Given the description of an element on the screen output the (x, y) to click on. 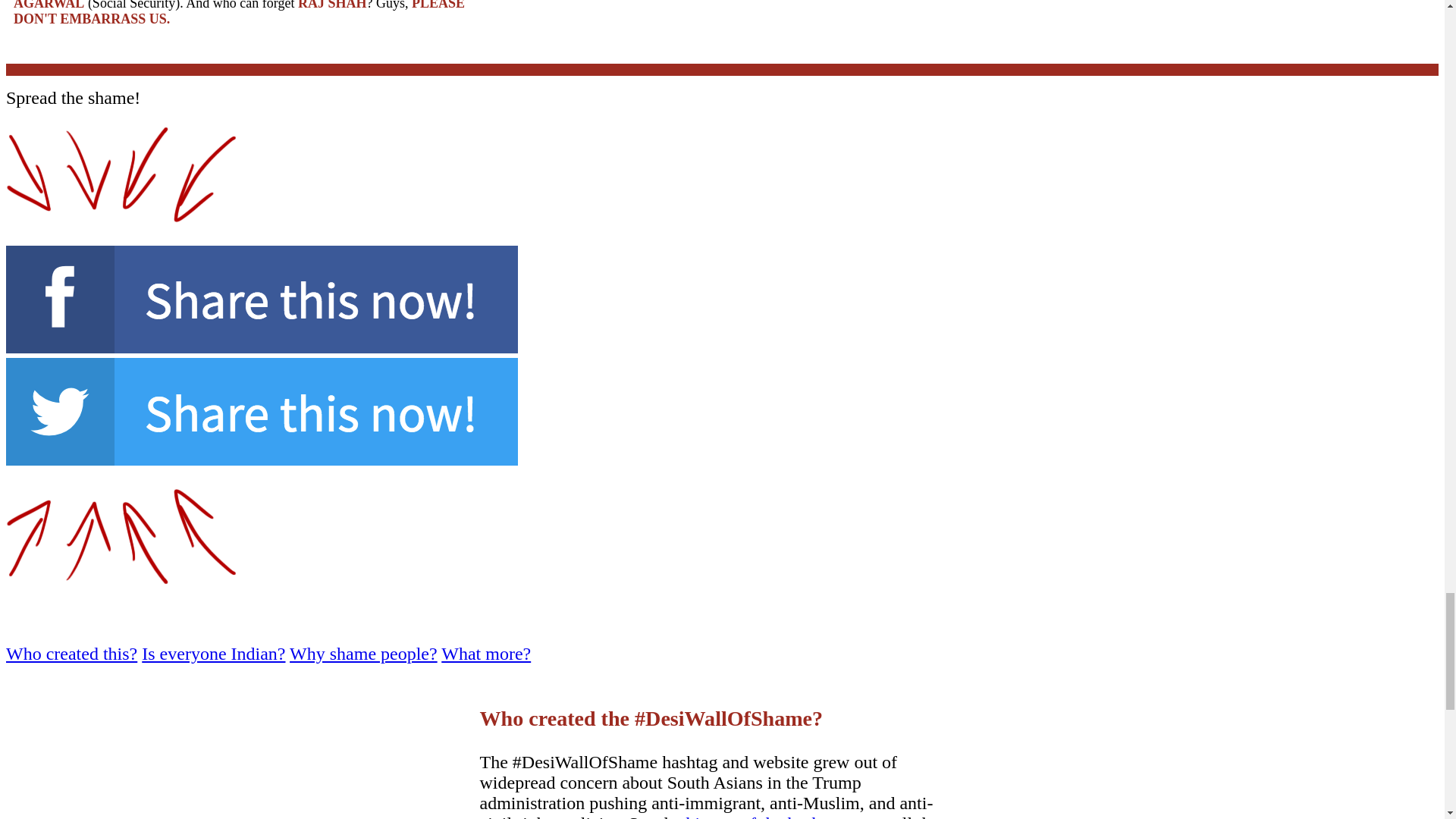
history of the hashtag (764, 816)
Who created this? (70, 653)
Is everyone Indian? (213, 653)
Why shame people? (363, 653)
What more? (486, 653)
